Given the description of an element on the screen output the (x, y) to click on. 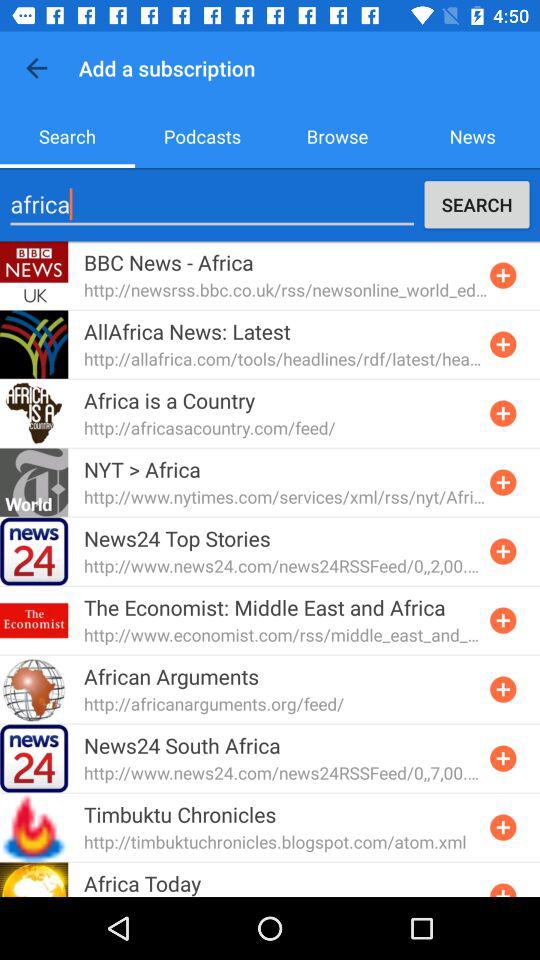
choose the the economist middle (264, 607)
